Given the description of an element on the screen output the (x, y) to click on. 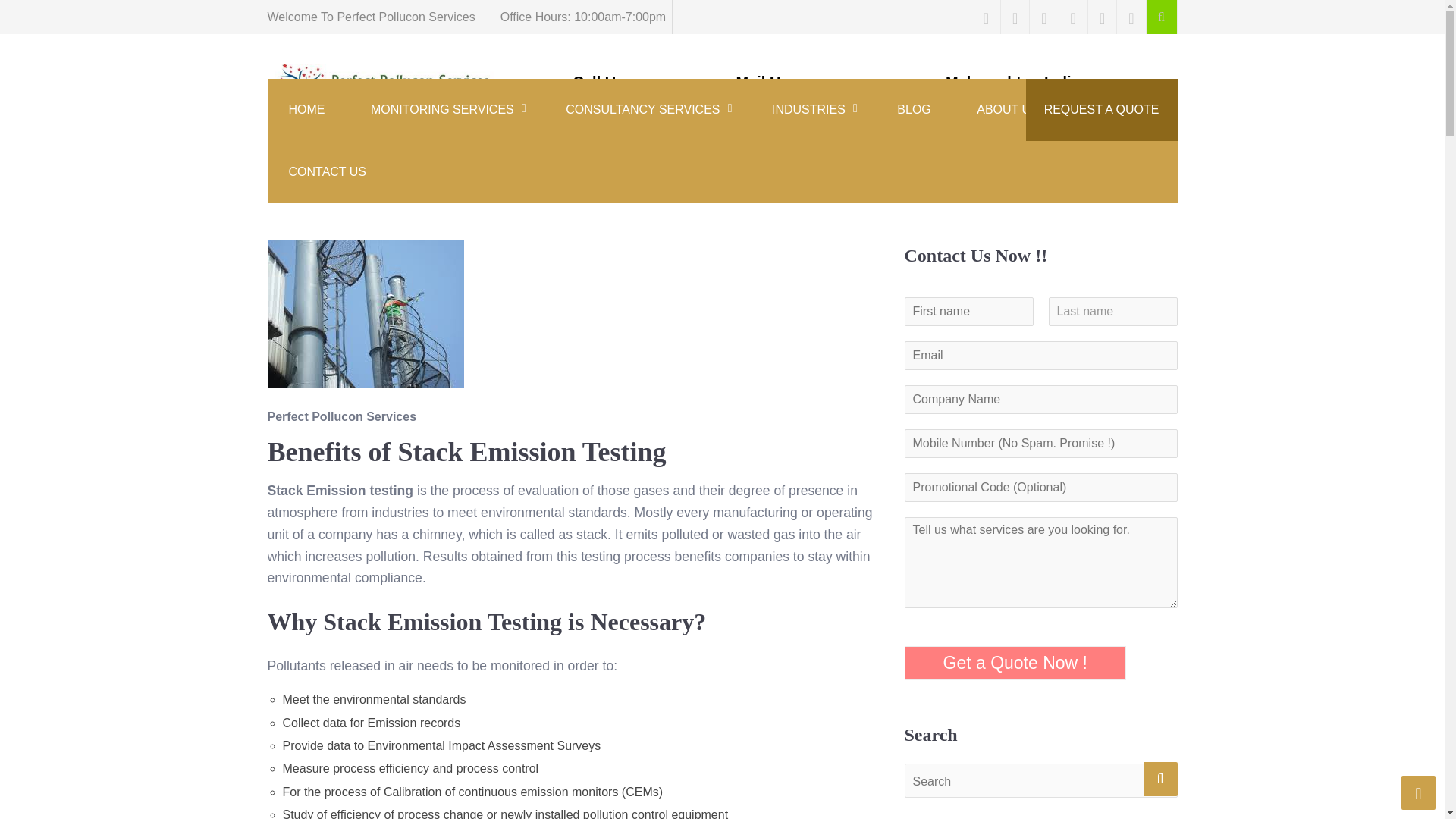
MONITORING SERVICES (445, 109)
CONSULTANCY SERVICES (645, 109)
Perfect Pollucon Services (342, 124)
INDUSTRIES (811, 109)
HOME (306, 109)
Last name (576, 88)
Search (1112, 311)
